Given the description of an element on the screen output the (x, y) to click on. 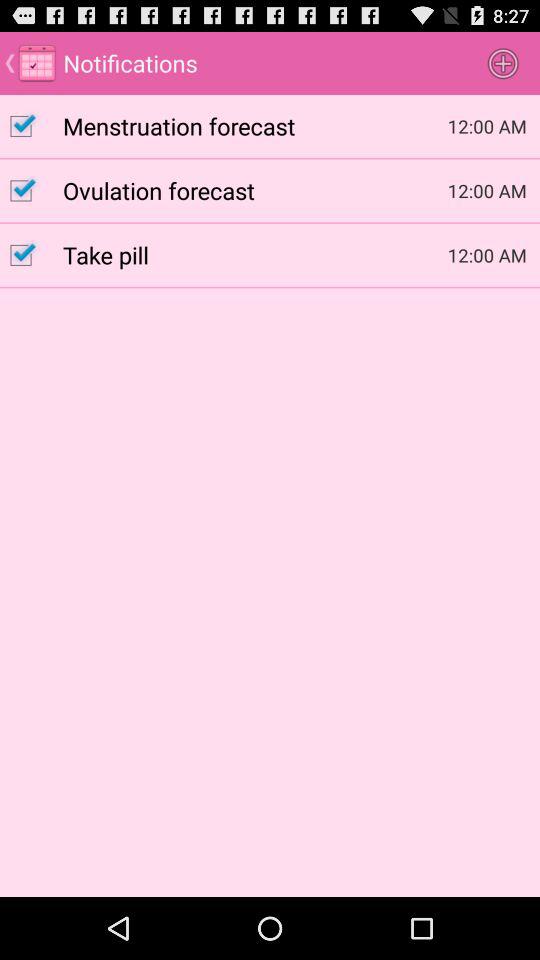
activate ovulation forecast notification (31, 190)
